Given the description of an element on the screen output the (x, y) to click on. 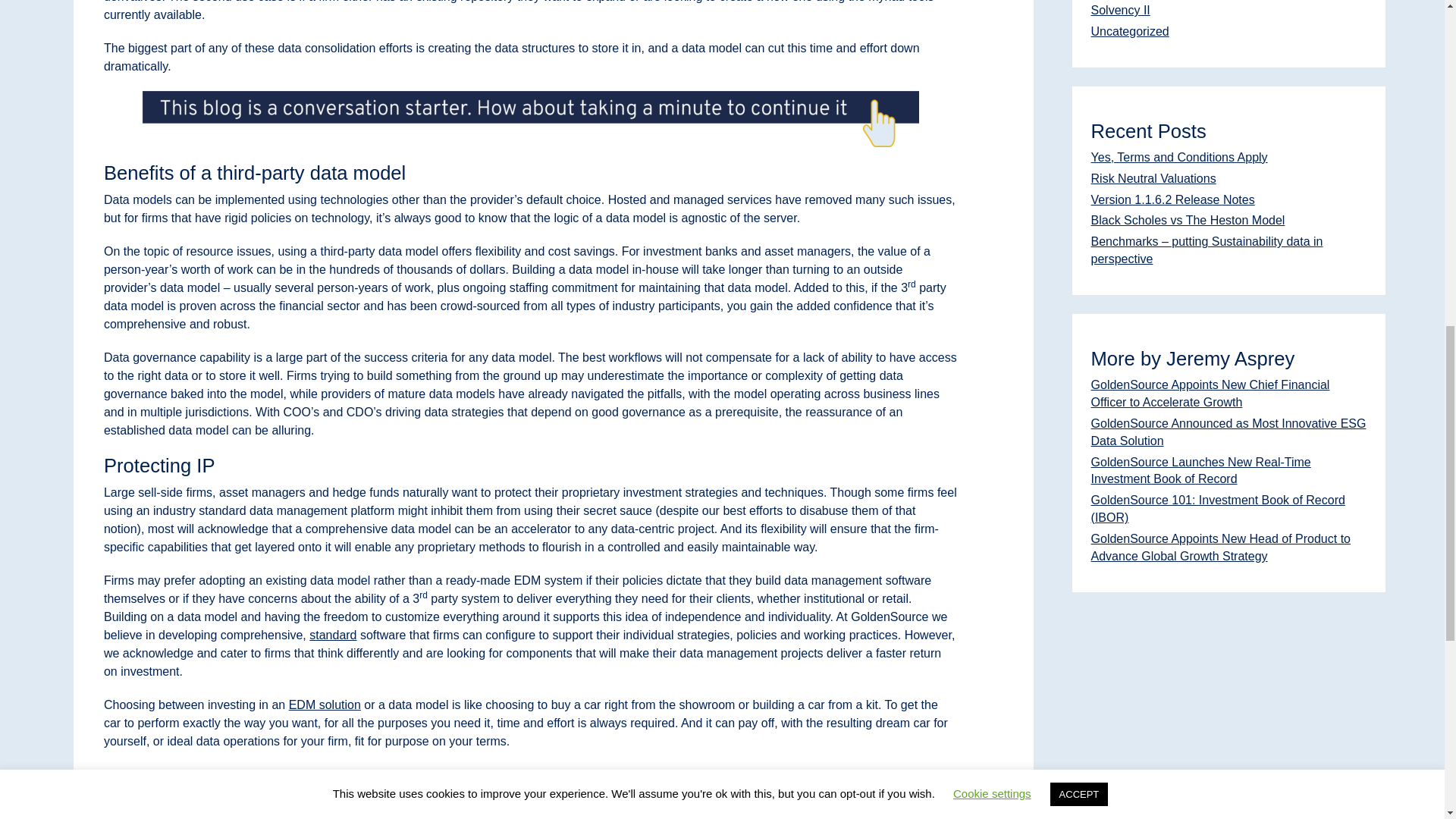
All Posts (445, 796)
